Given the description of an element on the screen output the (x, y) to click on. 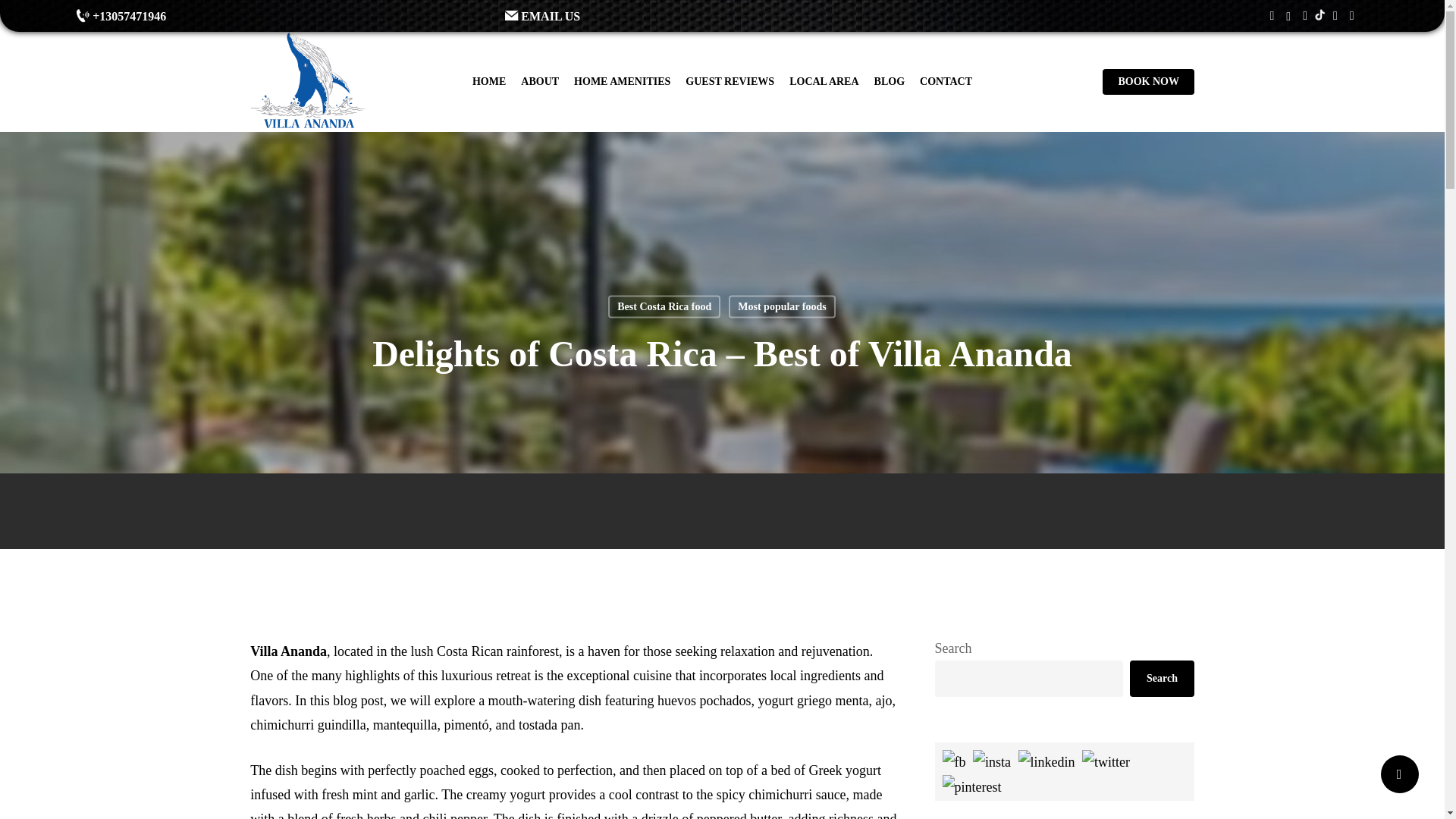
ABOUT (540, 81)
EMAIL US (715, 15)
Best Costa Rica food (664, 306)
BOOK NOW (1147, 81)
HOME (488, 81)
BLOG (889, 81)
Most popular foods (781, 306)
GUEST REVIEWS (729, 81)
LOCAL AREA (824, 81)
HOME AMENITIES (621, 81)
